Given the description of an element on the screen output the (x, y) to click on. 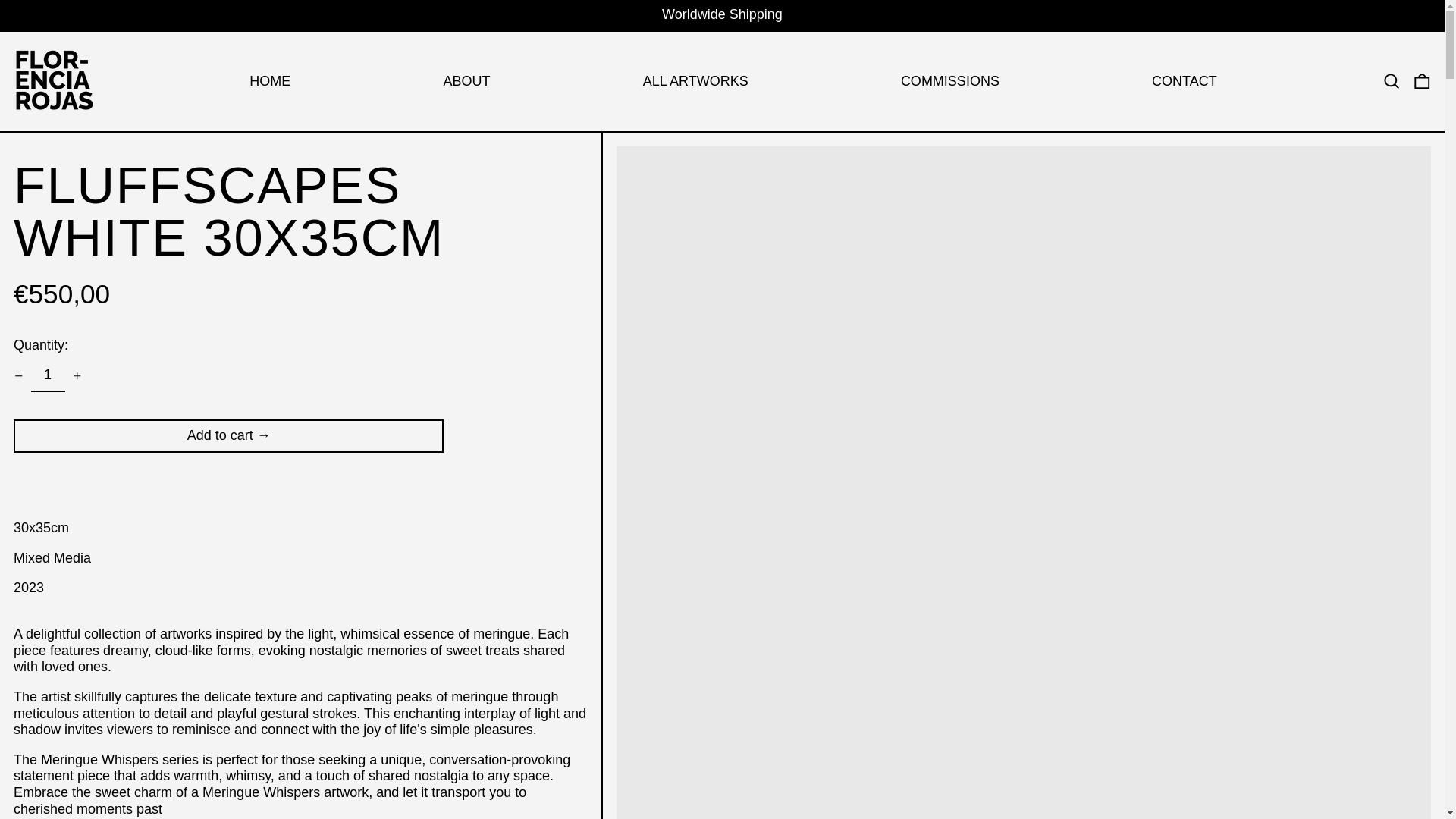
ALL ARTWORKS (695, 81)
1 (47, 376)
CONTACT (1184, 81)
ABOUT (465, 81)
COMMISSIONS (949, 81)
HOME (268, 81)
